Given the description of an element on the screen output the (x, y) to click on. 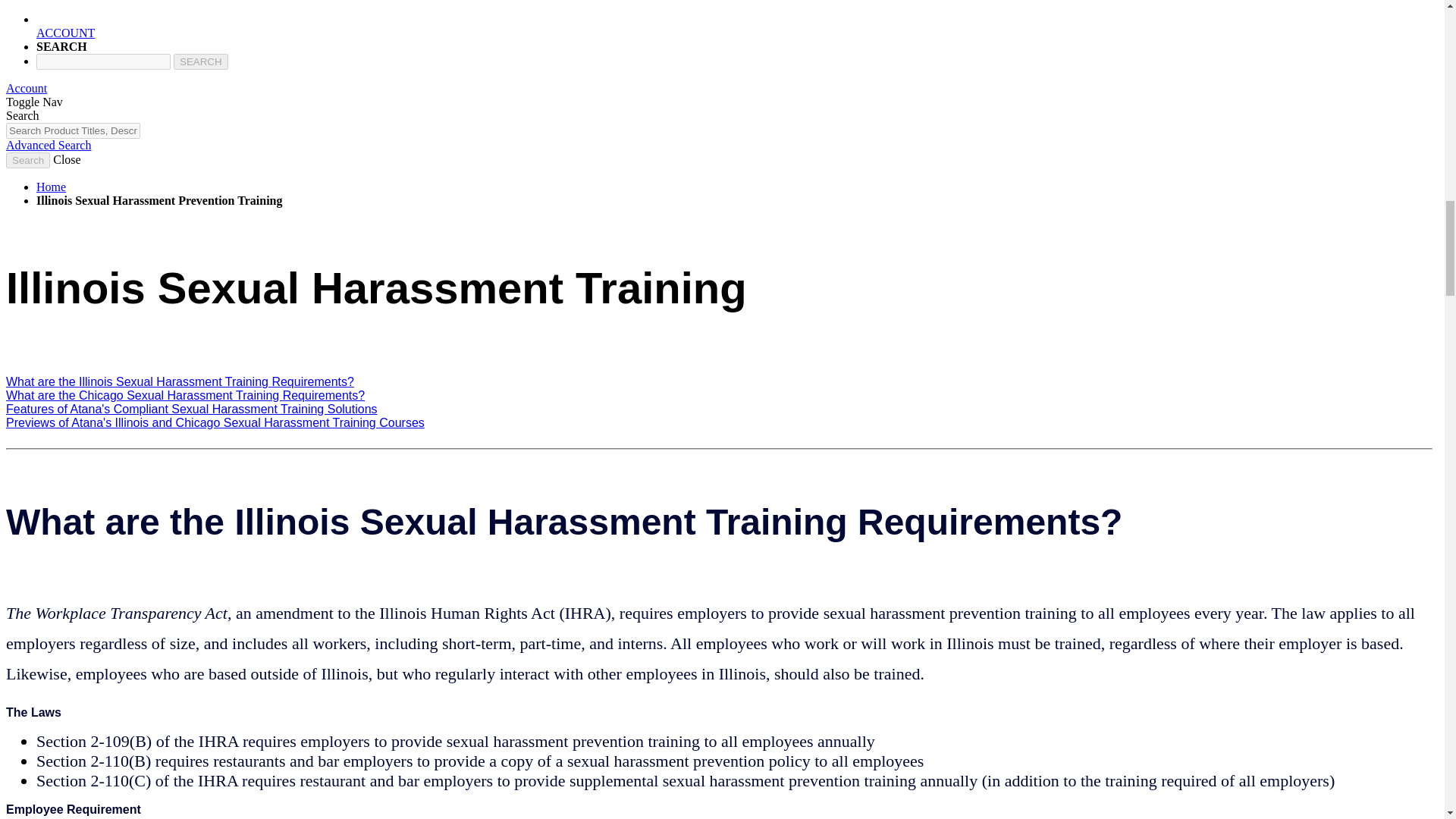
SEARCH (200, 61)
Account (25, 88)
Search (27, 160)
Search (27, 160)
SEARCH (200, 61)
SEARCH (200, 61)
Home (50, 186)
